Given the description of an element on the screen output the (x, y) to click on. 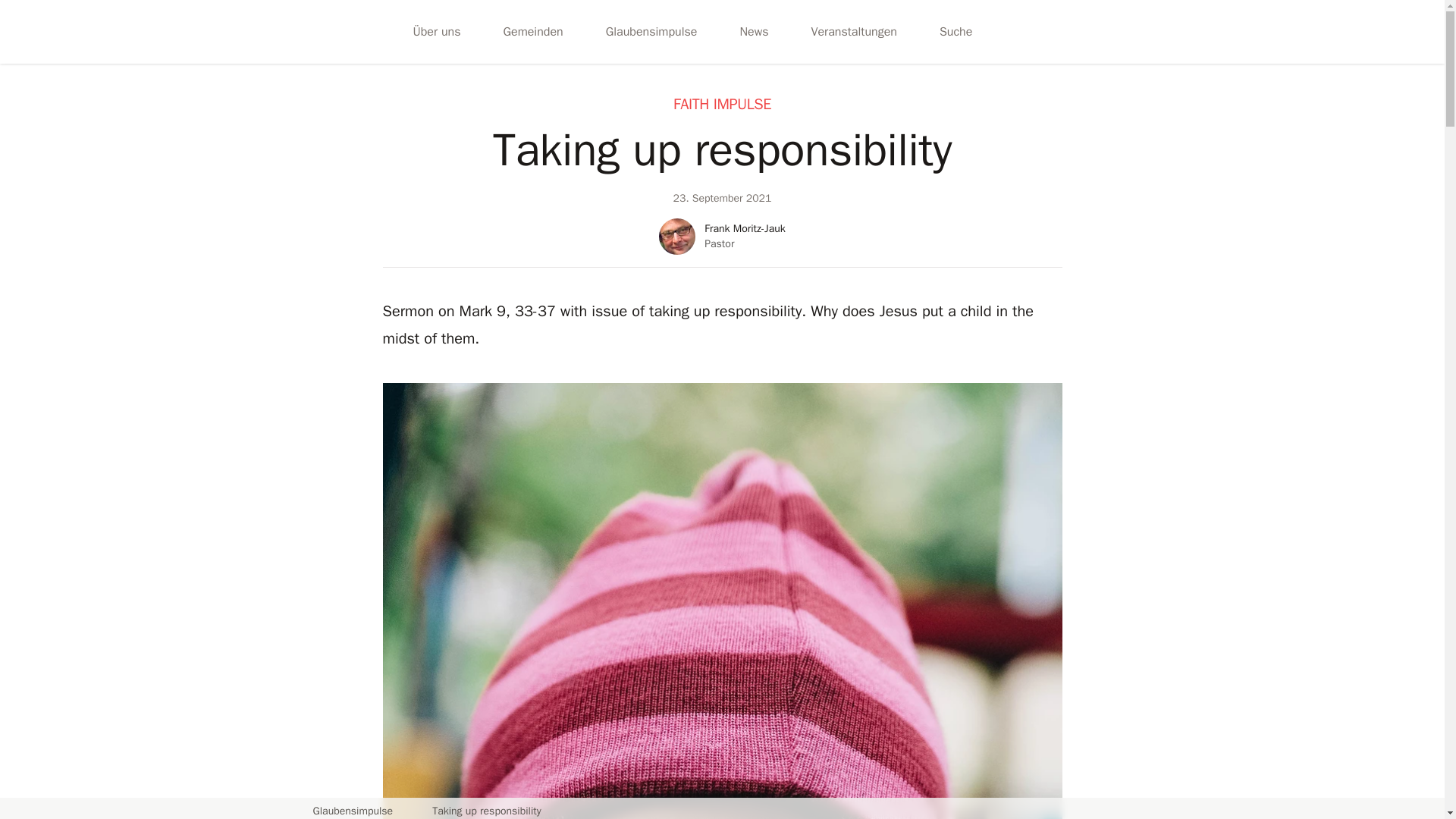
Gemeinden (532, 31)
Veranstaltungen (852, 31)
UMC Austria (314, 31)
News (753, 31)
Glaubensimpulse (652, 31)
Suche (955, 31)
